Given the description of an element on the screen output the (x, y) to click on. 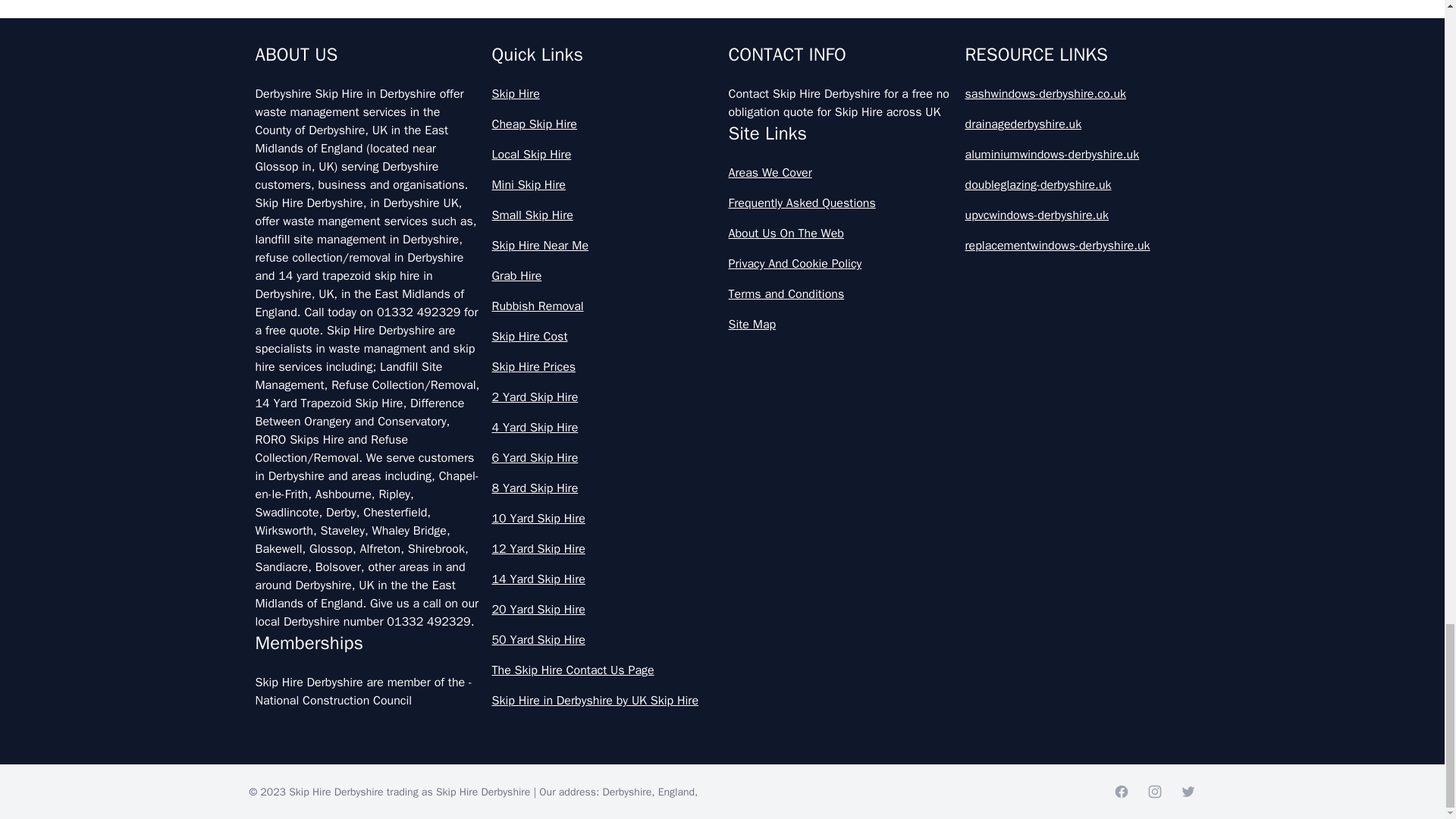
aluminiumwindows-derbyshire.uk (1076, 154)
Oxcroft Estate (945, 16)
doubleglazing-derbyshire.uk (1076, 185)
sashwindows-derbyshire.co.uk (1076, 94)
Oxcroft (486, 16)
Skip Hire in Derbyshire by UK Skip Hire (604, 700)
Scarcliffe (486, 152)
upvcwindows-derbyshire.uk (1076, 215)
Rylah (945, 79)
Site Map (840, 324)
Palterton (486, 79)
drainagederbyshire.uk (1076, 124)
replacementwindows-derbyshire.uk (1076, 245)
